Given the description of an element on the screen output the (x, y) to click on. 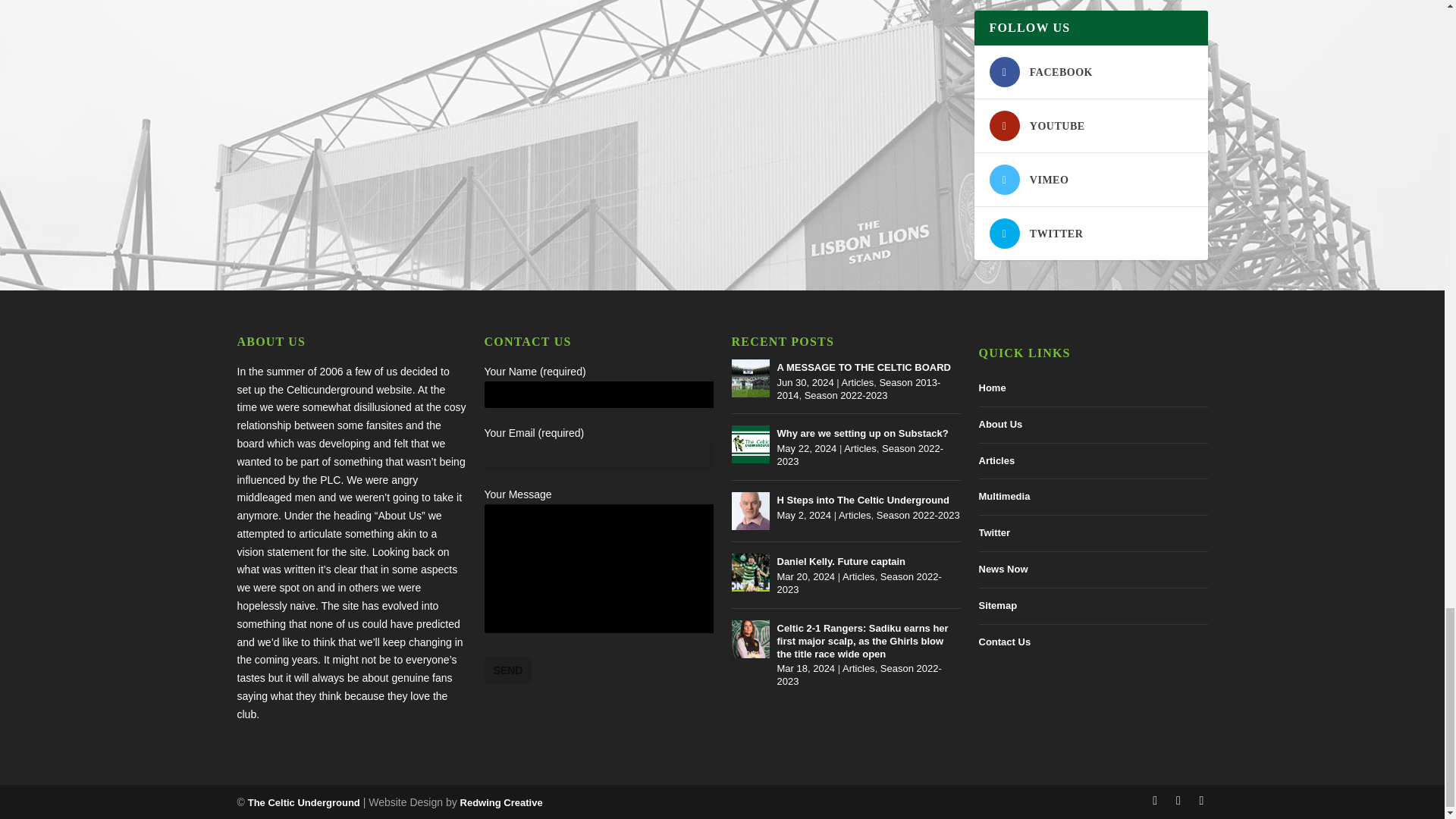
Send (507, 669)
